Given the description of an element on the screen output the (x, y) to click on. 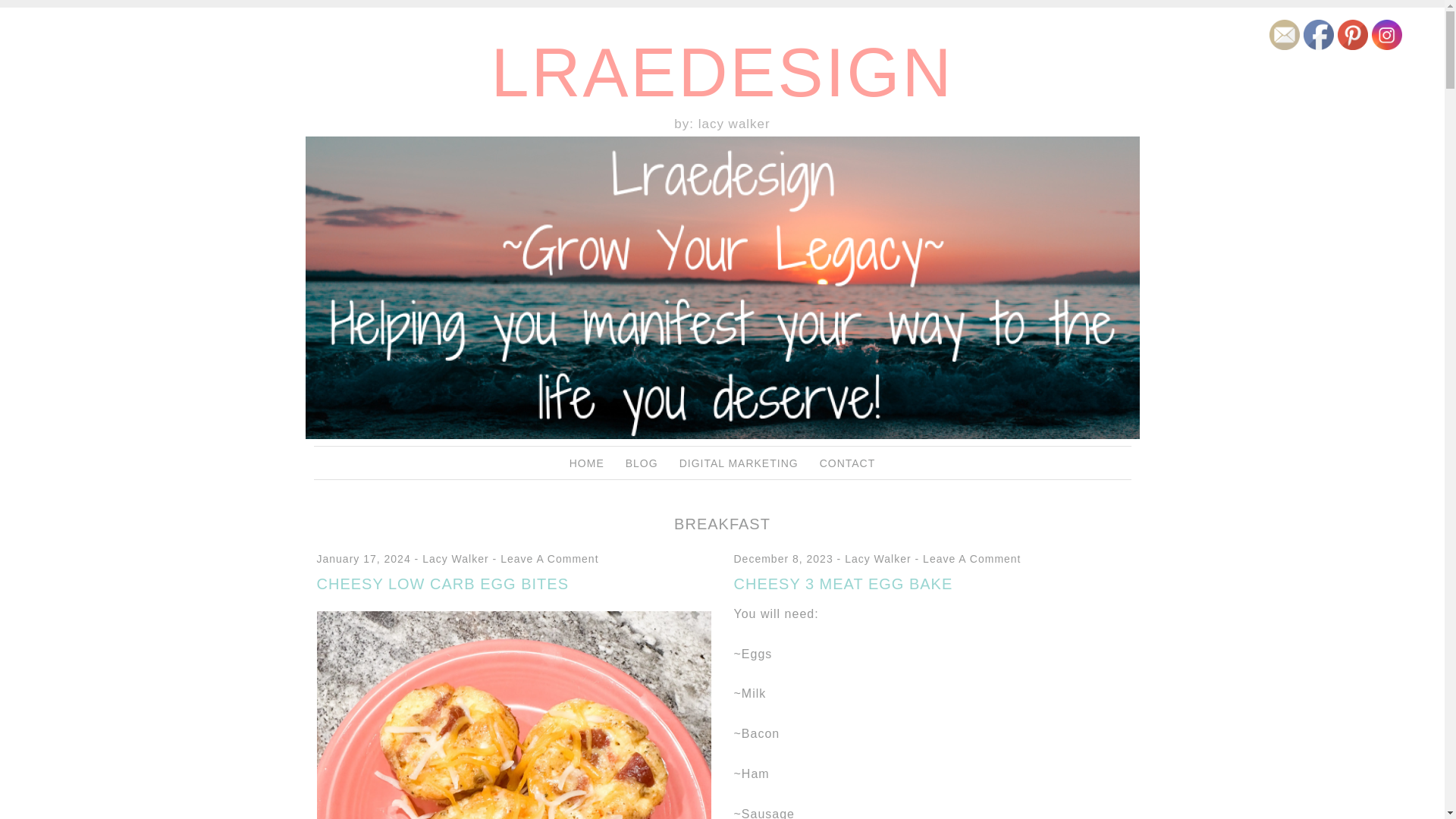
January 17, 2024 (363, 558)
Instagram (1386, 34)
BLOG (642, 463)
CHEESY LOW CARB EGG BITES (443, 583)
CHEESY 3 MEAT EGG BAKE (843, 583)
Lacy Walker (877, 558)
LRAEDESIGN (721, 72)
Pinterest (1353, 34)
December 8, 2023 (782, 558)
HOME (586, 463)
